Given the description of an element on the screen output the (x, y) to click on. 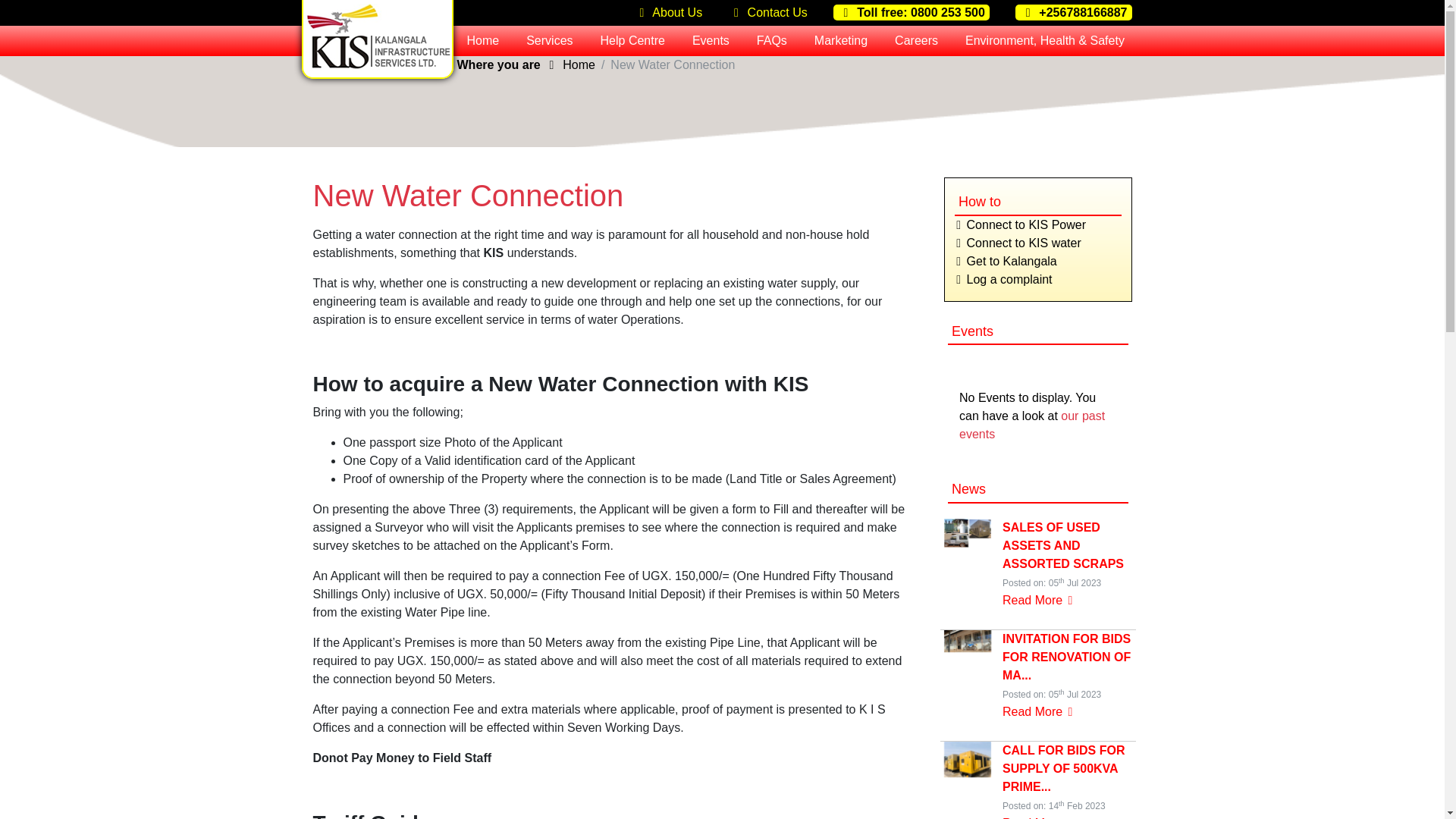
Toll free: 0800 253 500 (911, 12)
Home (482, 40)
Contact Us (767, 12)
Help Centre (632, 40)
Marketing (840, 40)
Services (549, 40)
About Us (668, 12)
FAQs (771, 40)
Events (710, 40)
